Given the description of an element on the screen output the (x, y) to click on. 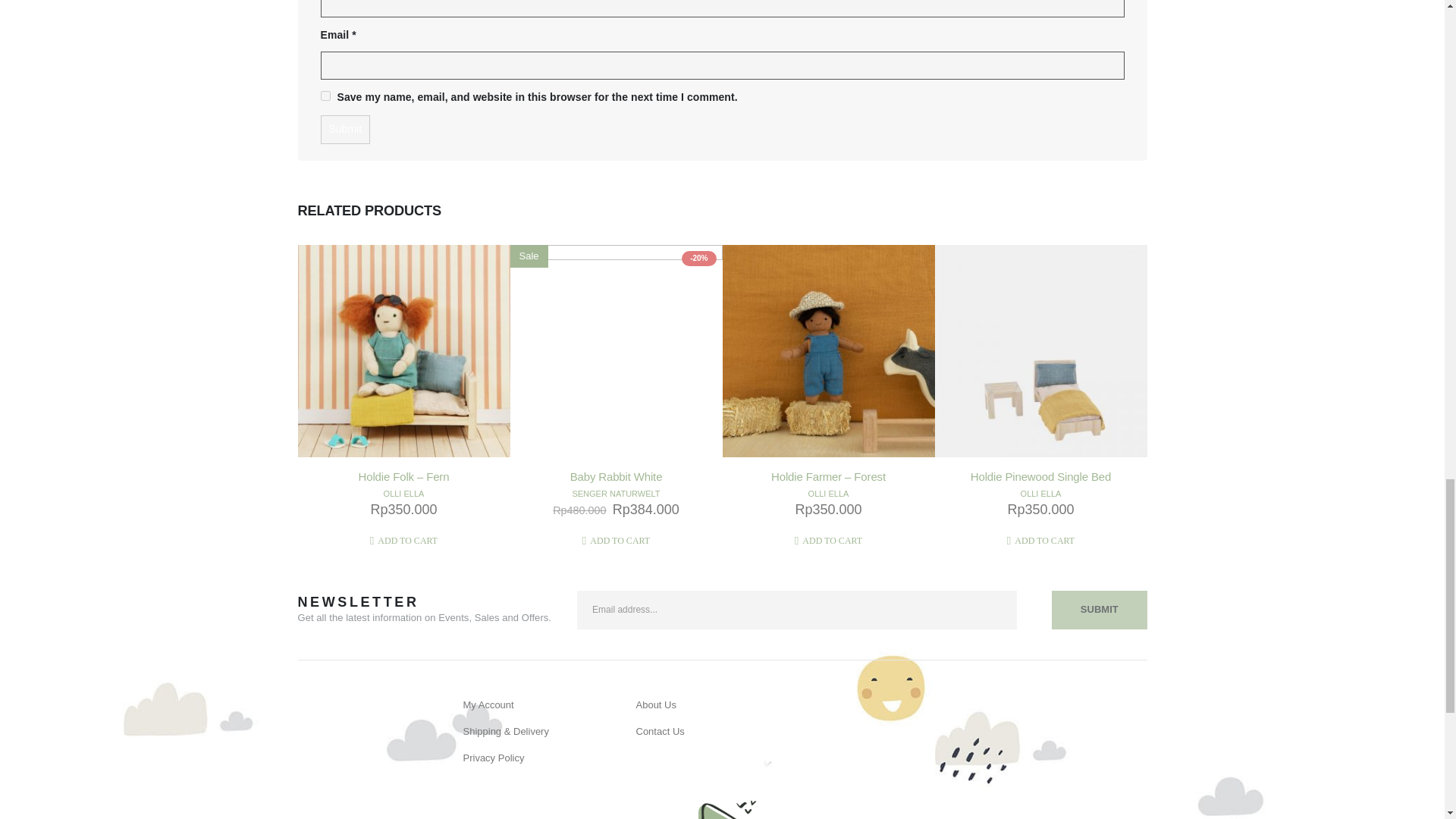
SUBMIT (1099, 609)
yes (325, 95)
Submit (344, 129)
